Given the description of an element on the screen output the (x, y) to click on. 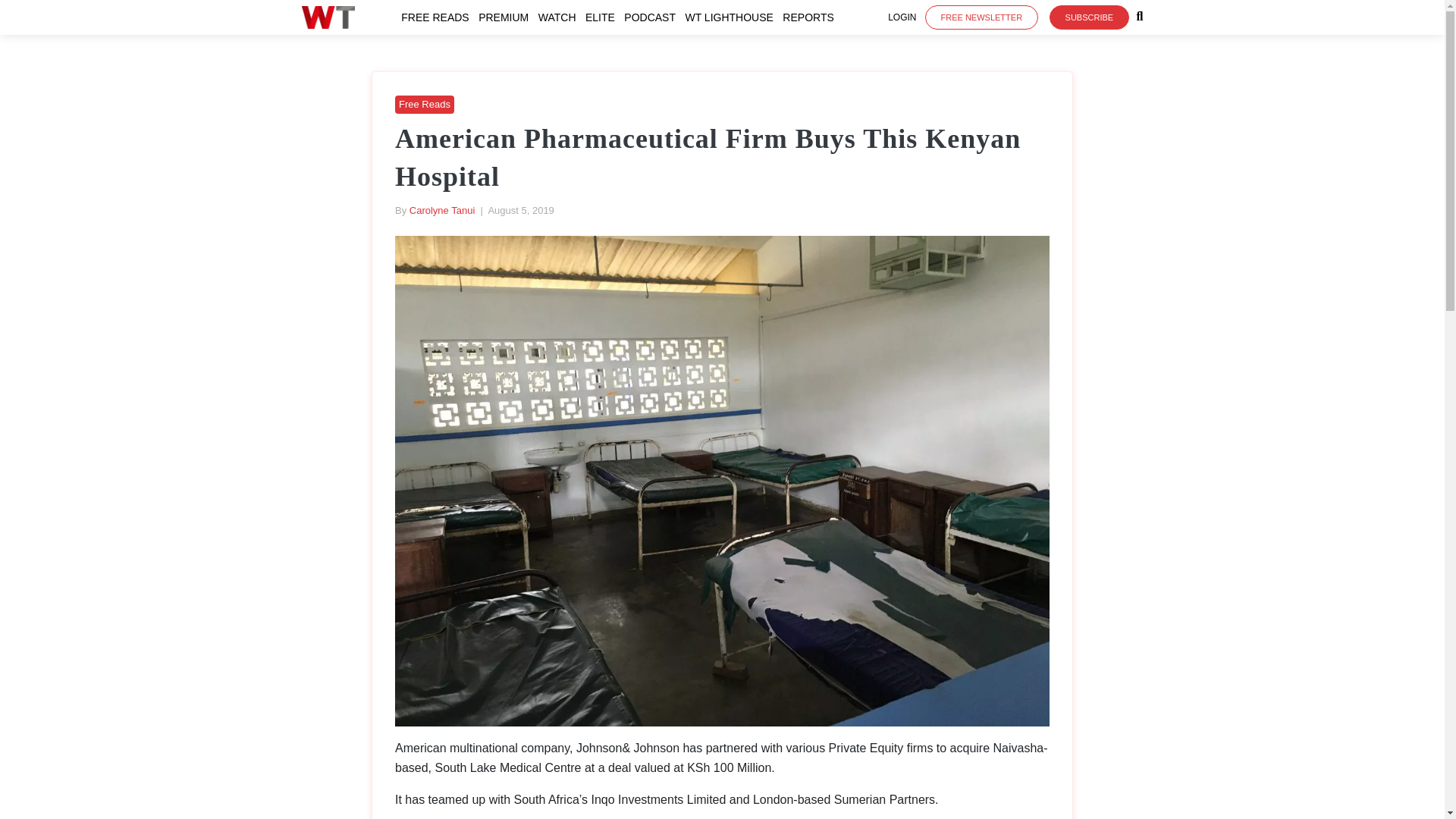
ELITE (603, 17)
WATCH (560, 17)
Carolyne Tanui (441, 210)
Posts by Carolyne Tanui (441, 210)
SUBSCRIBE (1089, 17)
LOGIN (902, 17)
Free Reads (423, 103)
FREE NEWSLETTER (981, 17)
PREMIUM (506, 17)
WT LIGHTHOUSE (731, 17)
FREE READS (437, 17)
REPORTS (811, 17)
PODCAST (652, 17)
